Given the description of an element on the screen output the (x, y) to click on. 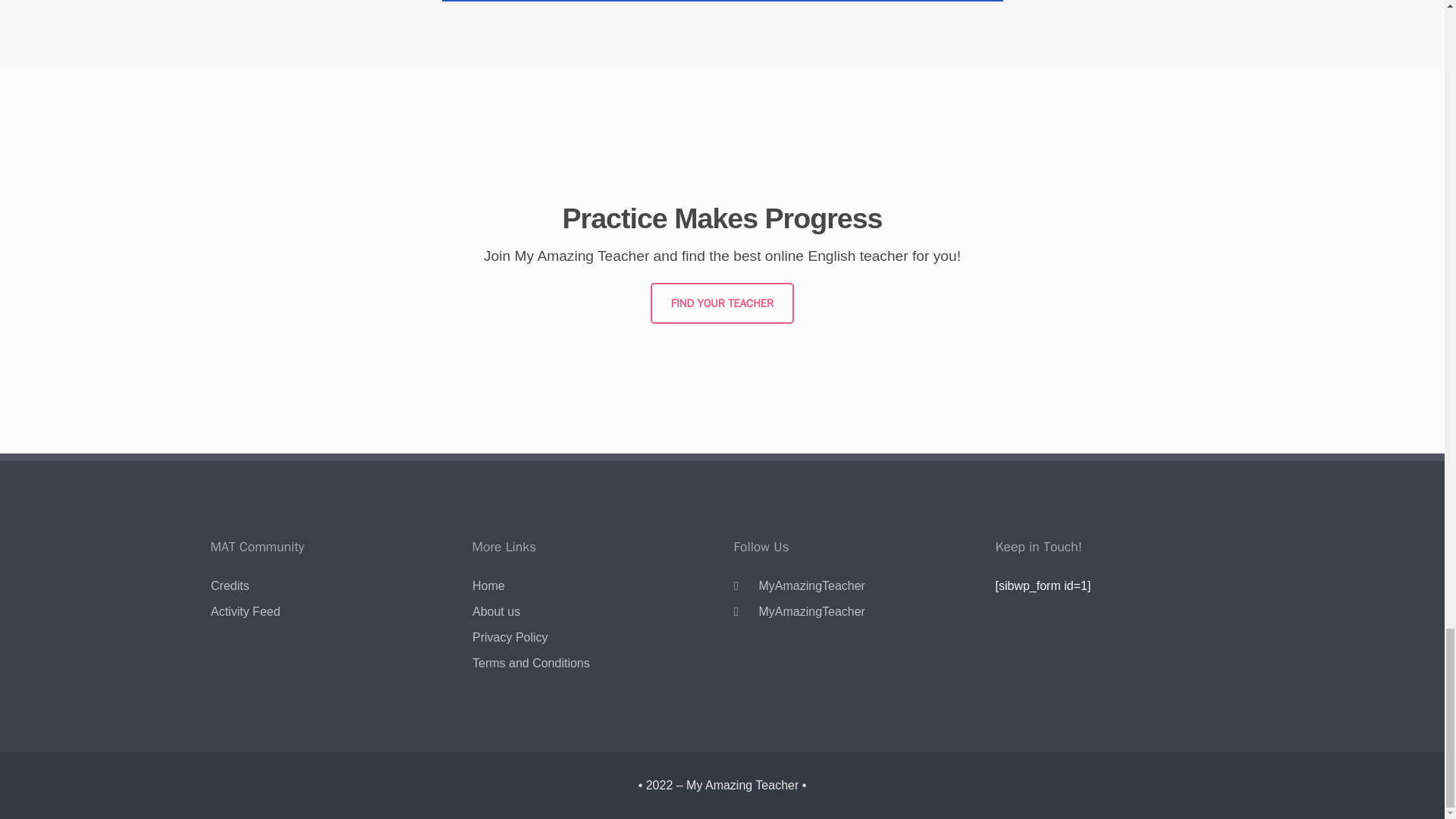
Credits (229, 586)
Activity Feed (246, 611)
About us (495, 611)
Home (487, 586)
FIND YOUR TEACHER (721, 302)
